Given the description of an element on the screen output the (x, y) to click on. 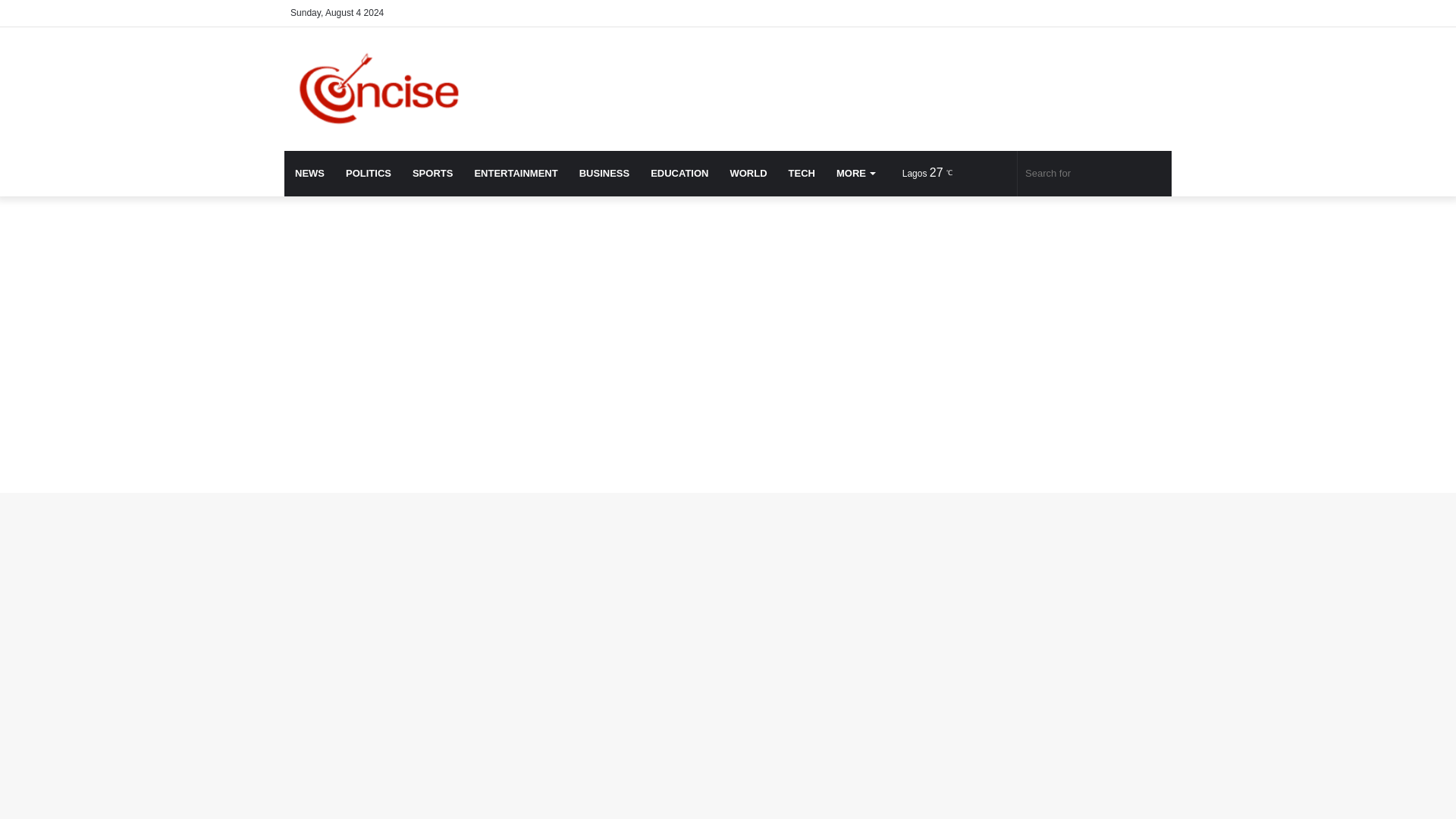
ENTERTAINMENT (515, 173)
EDUCATION (679, 173)
Search for (1094, 173)
BUSINESS (604, 173)
MORE (855, 173)
SPORTS (432, 173)
TECH (801, 173)
POLITICS (367, 173)
Concise News (389, 88)
NEWS (308, 173)
Light Rain (930, 172)
WORLD (748, 173)
